Given the description of an element on the screen output the (x, y) to click on. 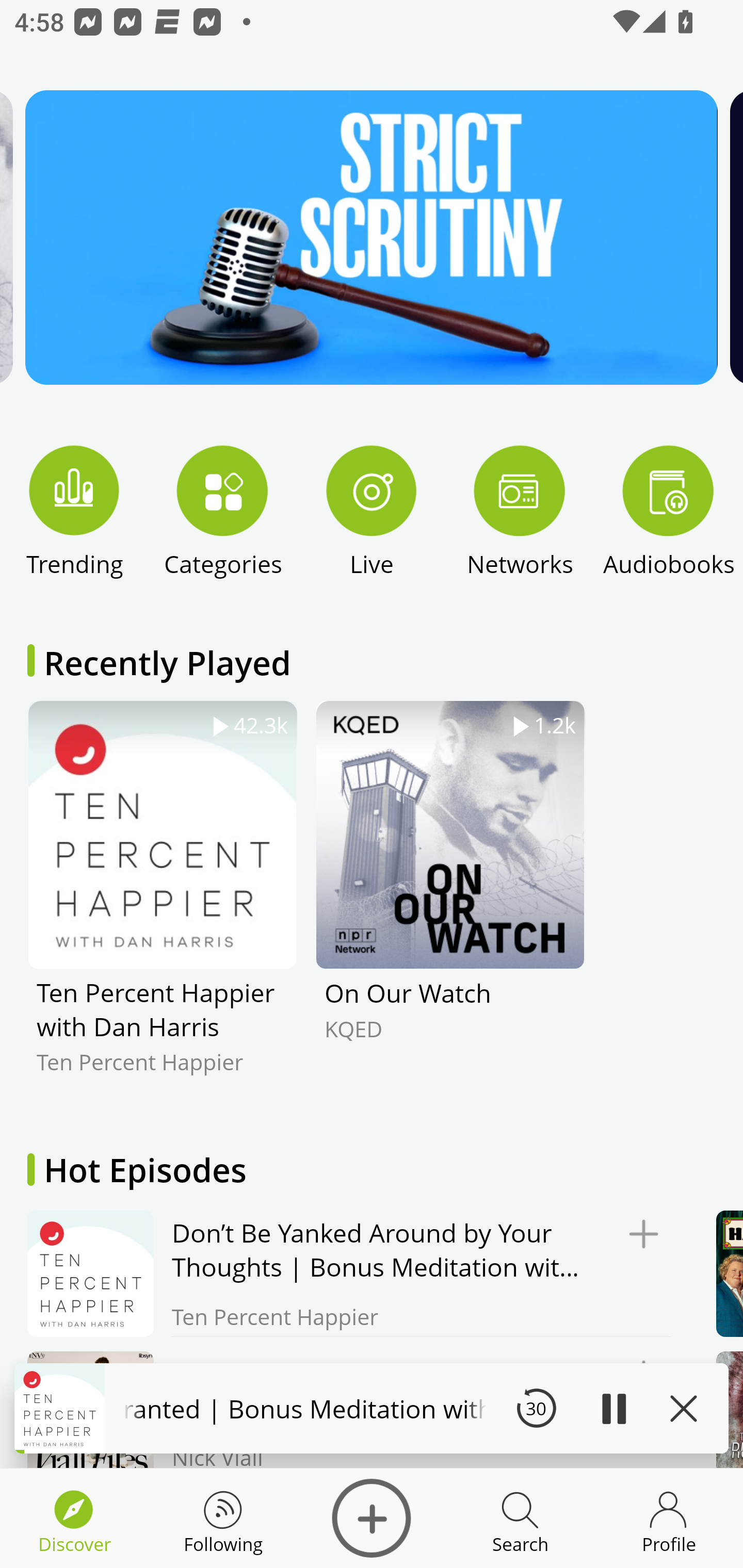
1.2k On Our Watch KQED (450, 902)
Play (613, 1407)
30 Seek Backward (536, 1407)
Discover Following (222, 1518)
Discover (371, 1518)
Discover Search (519, 1518)
Discover Profile (668, 1518)
